Given the description of an element on the screen output the (x, y) to click on. 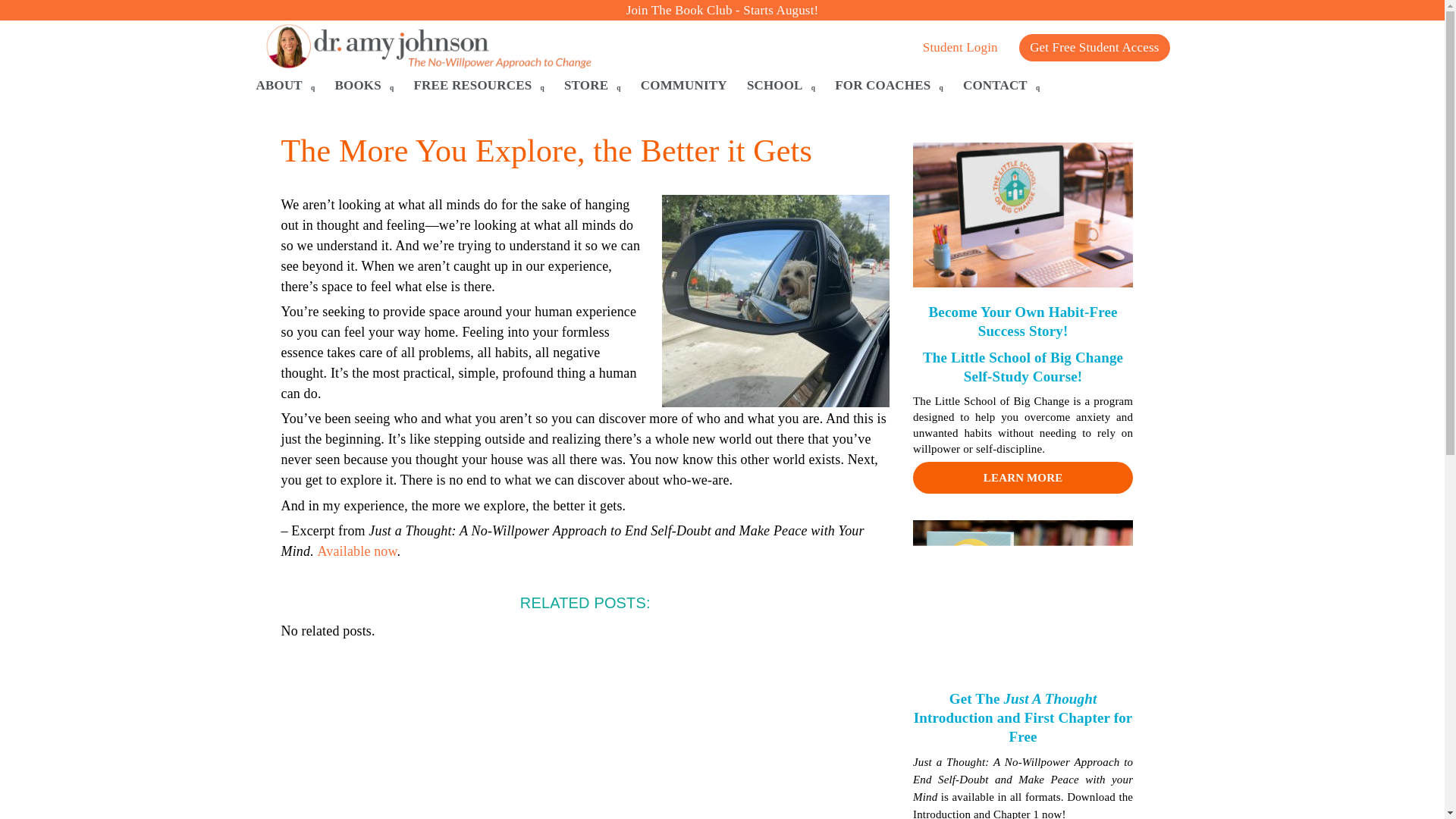
FOR COACHES (888, 85)
Student Login (960, 57)
STORE (592, 85)
FREE RESOURCES (478, 85)
BOOKS (363, 85)
Join The Book Club - Starts August! (722, 10)
ABOUT (286, 85)
COMMUNITY (684, 85)
SCHOOL (780, 85)
Get Free Student Access (1094, 47)
